Given the description of an element on the screen output the (x, y) to click on. 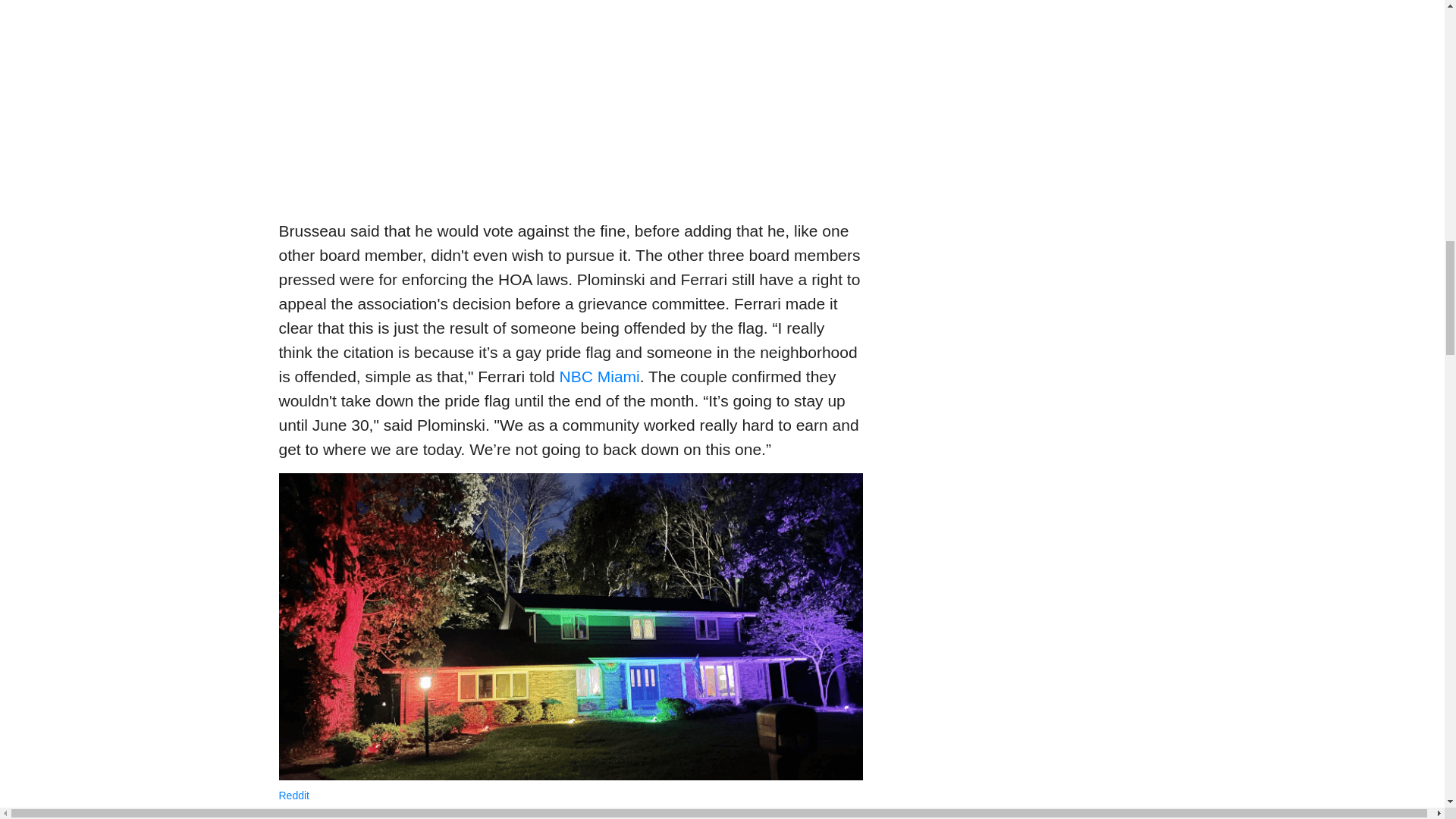
YouTube video player (571, 98)
Reddit (293, 795)
NBC Miami (599, 375)
